Given the description of an element on the screen output the (x, y) to click on. 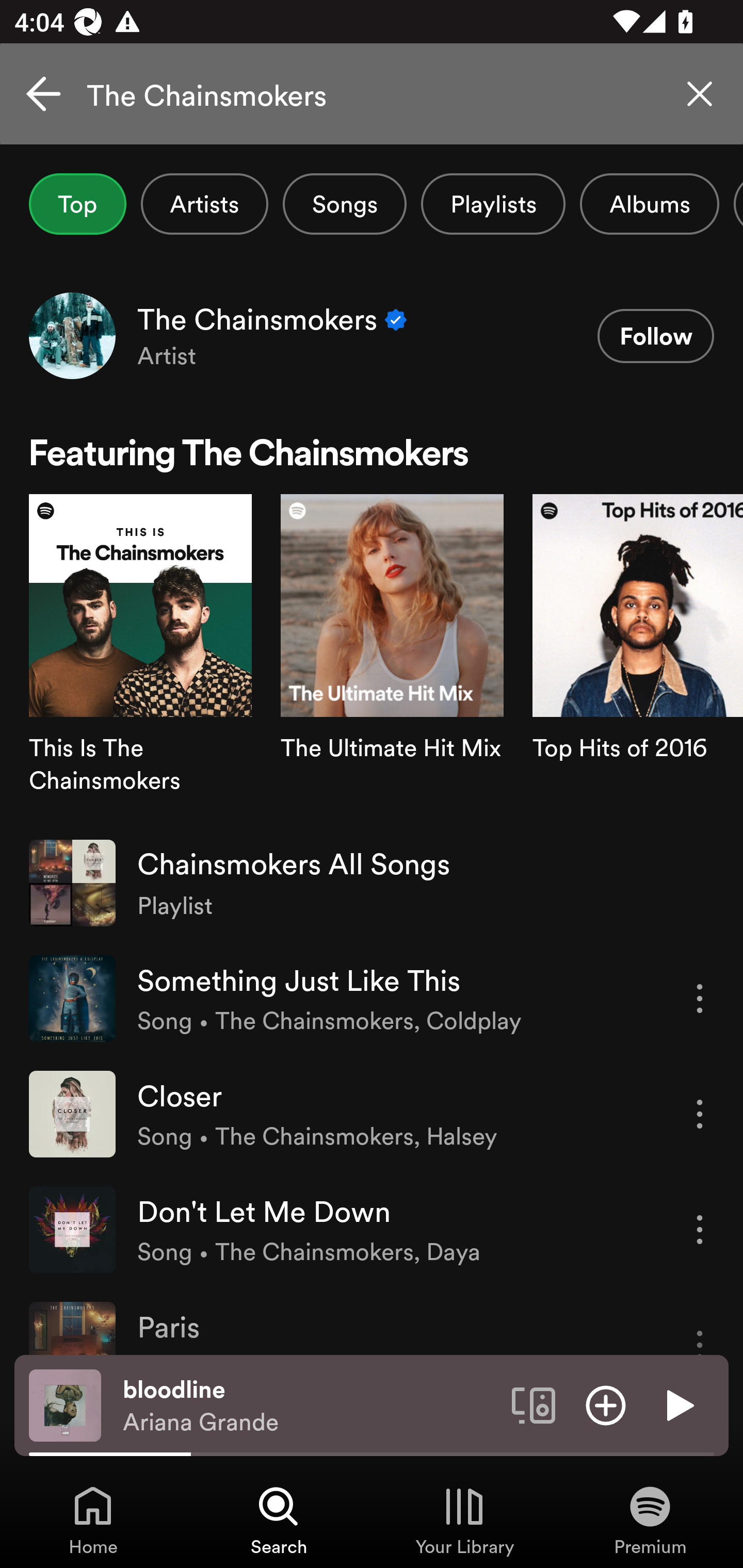
The Chainsmokers (371, 93)
Cancel (43, 93)
Clear search query (699, 93)
Top (77, 203)
Artists (204, 203)
Songs (344, 203)
Playlists (493, 203)
Albums (649, 203)
The Chainsmokers Verified Artist Follow Follow (371, 335)
Follow (655, 335)
Search card image This Is The Chainsmokers (139, 658)
Search card image The Ultimate Hit Mix (391, 658)
Search card image Top Hits of 2016 (637, 658)
Chainsmokers All Songs Playlist (371, 882)
More options for song Something Just Like This (699, 997)
More options for song Closer (699, 1113)
More options for song Don't Let Me Down (699, 1229)
More options for song Paris (699, 1327)
bloodline Ariana Grande (309, 1405)
The cover art of the currently playing track (64, 1404)
Connect to a device. Opens the devices menu (533, 1404)
Add item (605, 1404)
Play (677, 1404)
Home, Tab 1 of 4 Home Home (92, 1519)
Search, Tab 2 of 4 Search Search (278, 1519)
Your Library, Tab 3 of 4 Your Library Your Library (464, 1519)
Premium, Tab 4 of 4 Premium Premium (650, 1519)
